Given the description of an element on the screen output the (x, y) to click on. 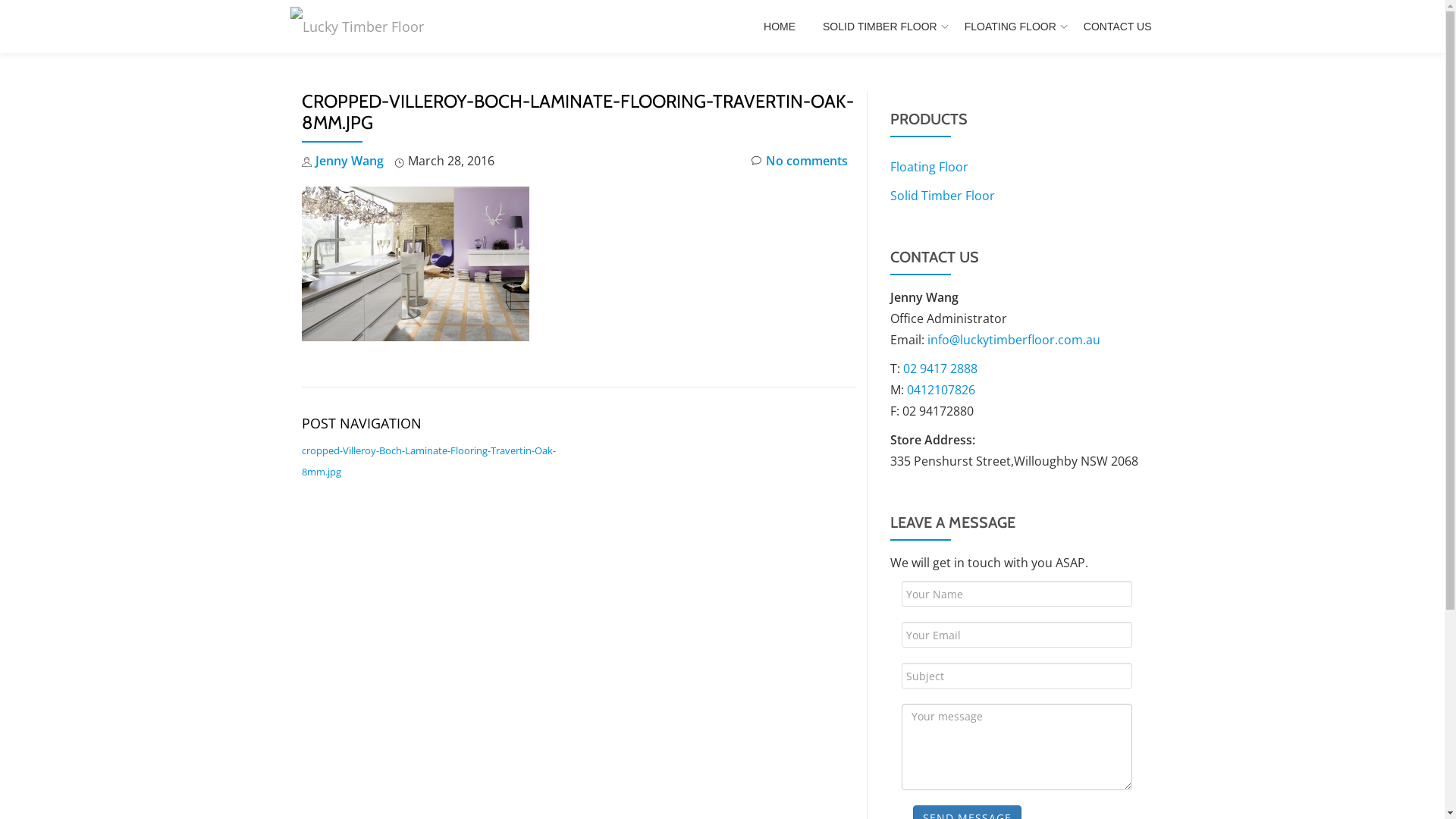
02 9417 2888 Element type: text (939, 368)
Solid Timber Floor Element type: text (942, 195)
FLOATING FLOOR Element type: text (1010, 26)
0412107826 Element type: text (940, 389)
No comments Element type: text (798, 160)
SOLID TIMBER FLOOR Element type: text (879, 26)
HOME Element type: text (779, 26)
Floating Floor Element type: text (929, 166)
Jenny Wang Element type: text (349, 160)
info@luckytimberfloor.com.au Element type: text (1012, 339)
Lucky Timber Floor Element type: hover (358, 26)
CONTACT US Element type: text (1117, 26)
Skip to content Element type: text (0, 30)
